Given the description of an element on the screen output the (x, y) to click on. 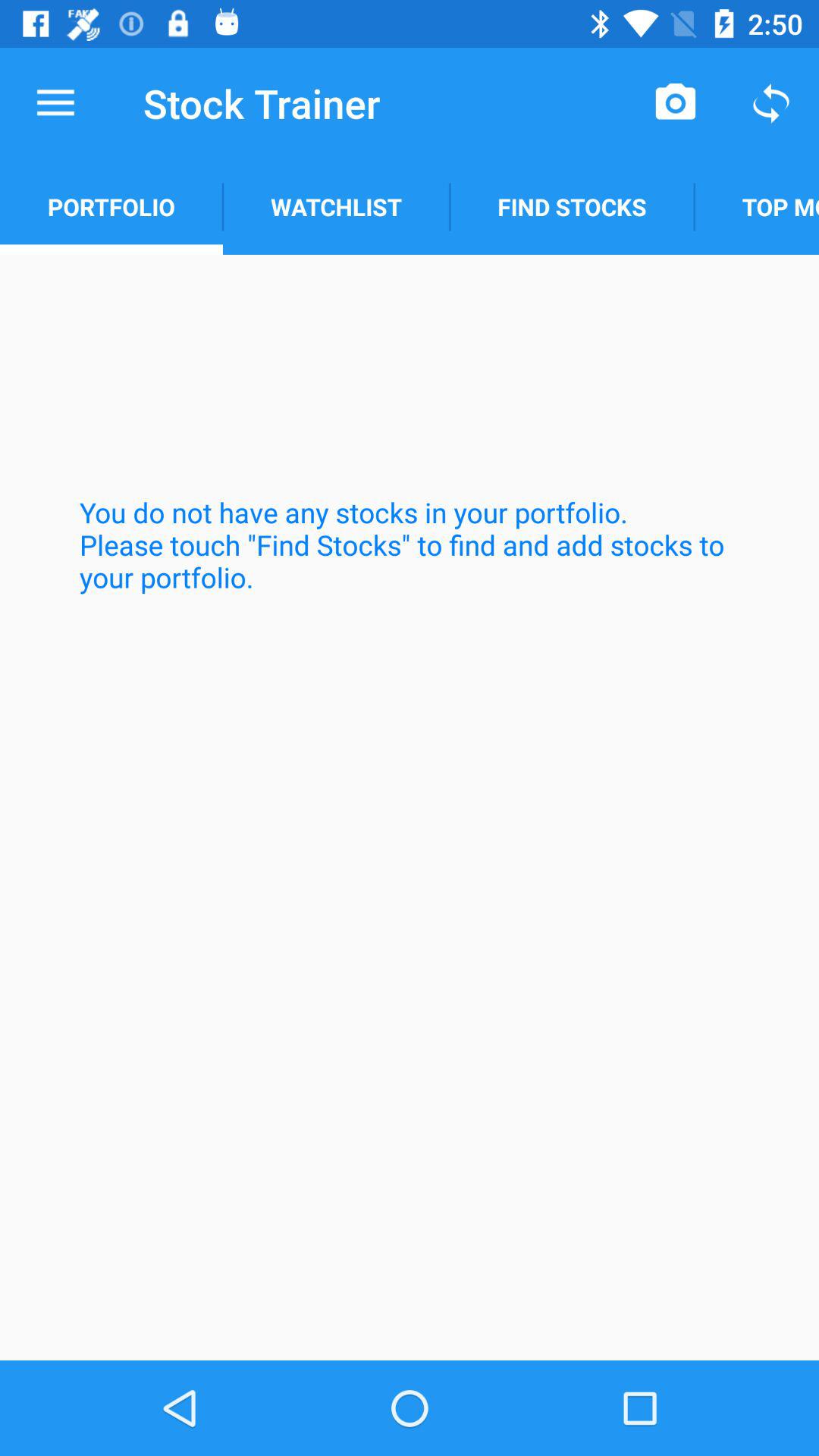
open item to the right of portfolio (335, 206)
